Given the description of an element on the screen output the (x, y) to click on. 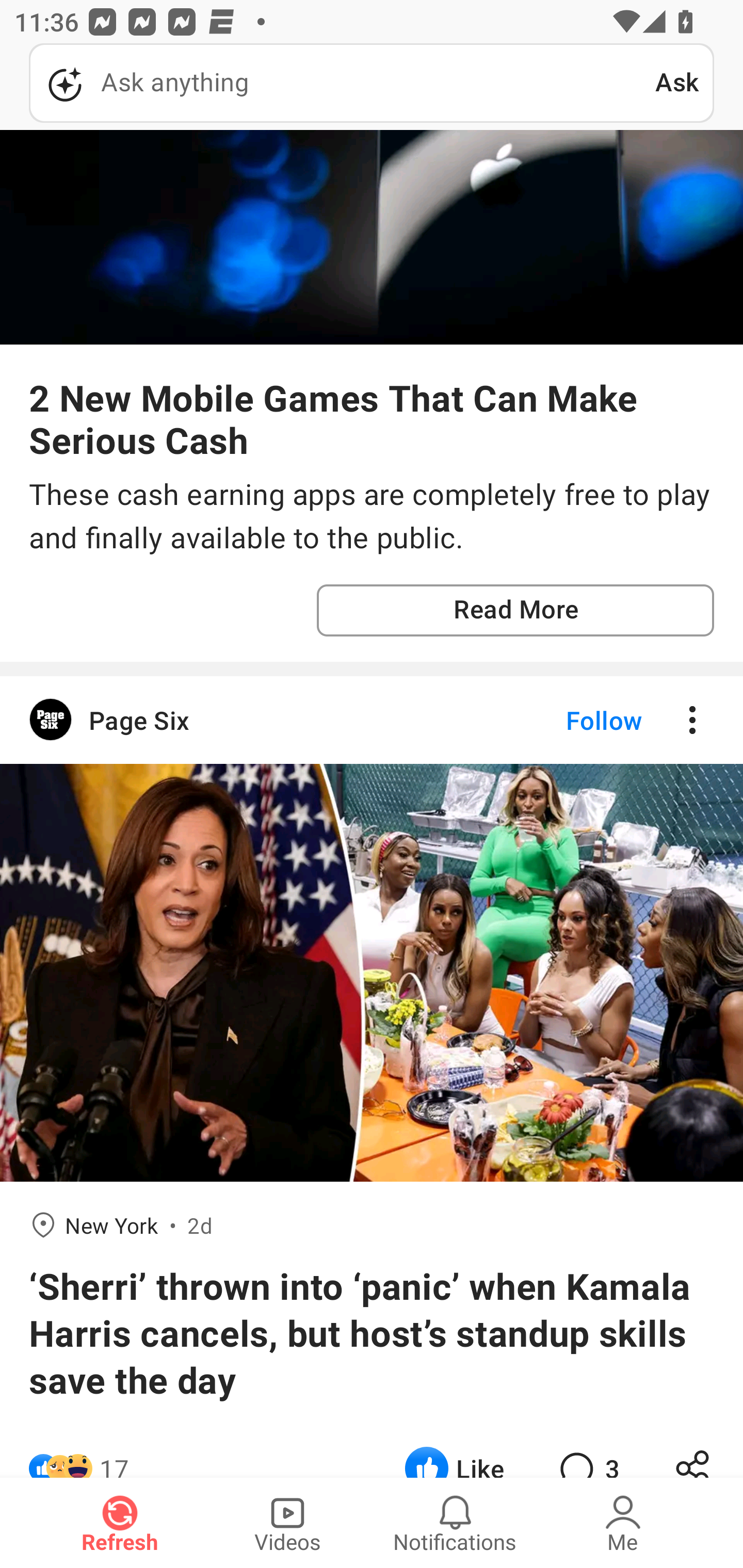
Ask anything (341, 82)
2 New Mobile Games That Can Make Serious Cash (371, 418)
Read More (515, 610)
Page Six Follow (371, 719)
Follow (569, 719)
17 (114, 1451)
Like (454, 1451)
3 (587, 1451)
Videos (287, 1522)
Notifications (455, 1522)
Me (622, 1522)
